Given the description of an element on the screen output the (x, y) to click on. 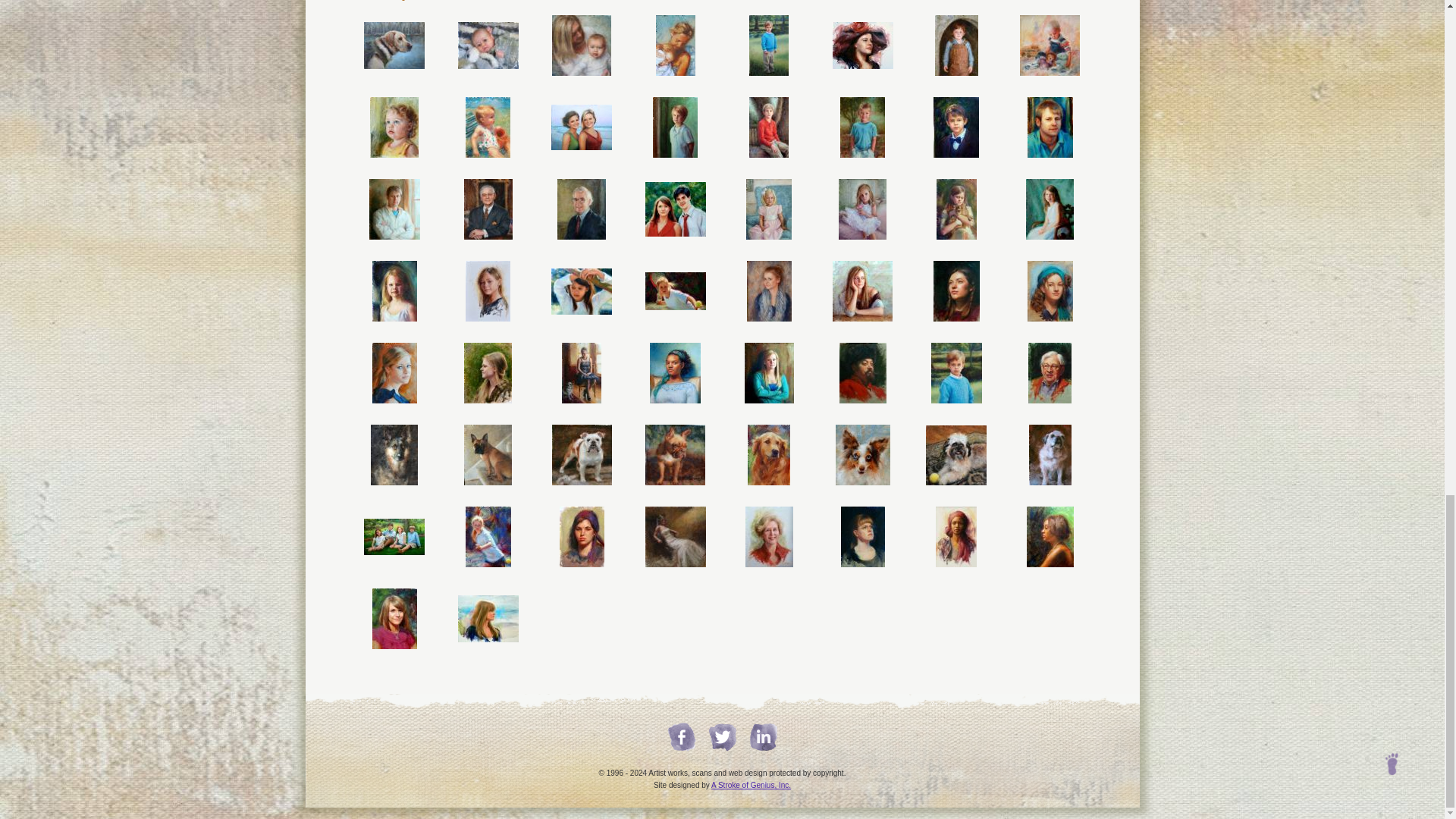
portraits, portrait artists (394, 45)
portraits, portrait artists (862, 45)
portraits, portrait artists (769, 45)
portraits, portrait artists (675, 45)
portraits, portrait artists (581, 45)
portraits, portrait artists (956, 45)
portraits, portrait artists (488, 45)
